Given the description of an element on the screen output the (x, y) to click on. 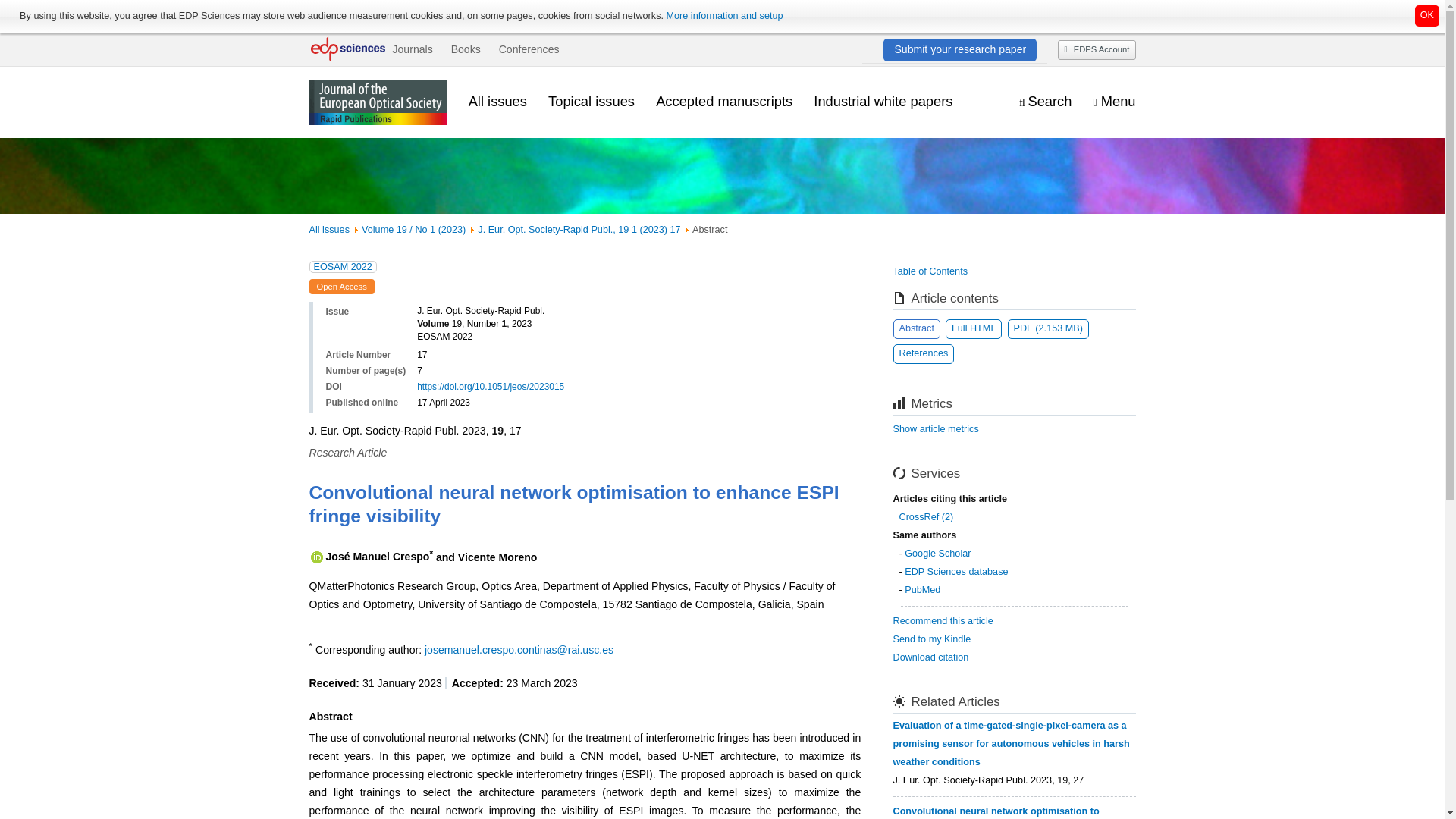
EOSAM 2022 (342, 266)
References (924, 353)
Conferences (529, 49)
Full HTML (972, 329)
OK (1427, 15)
Submit your research paper (959, 49)
All issues (497, 101)
Abstract (916, 329)
Click to close this notification (1427, 15)
Topical issues (591, 101)
Journals (411, 49)
Send this article to my Kindle (932, 638)
Journal homepage (377, 102)
Books (465, 49)
Accepted manuscripts (724, 101)
